Given the description of an element on the screen output the (x, y) to click on. 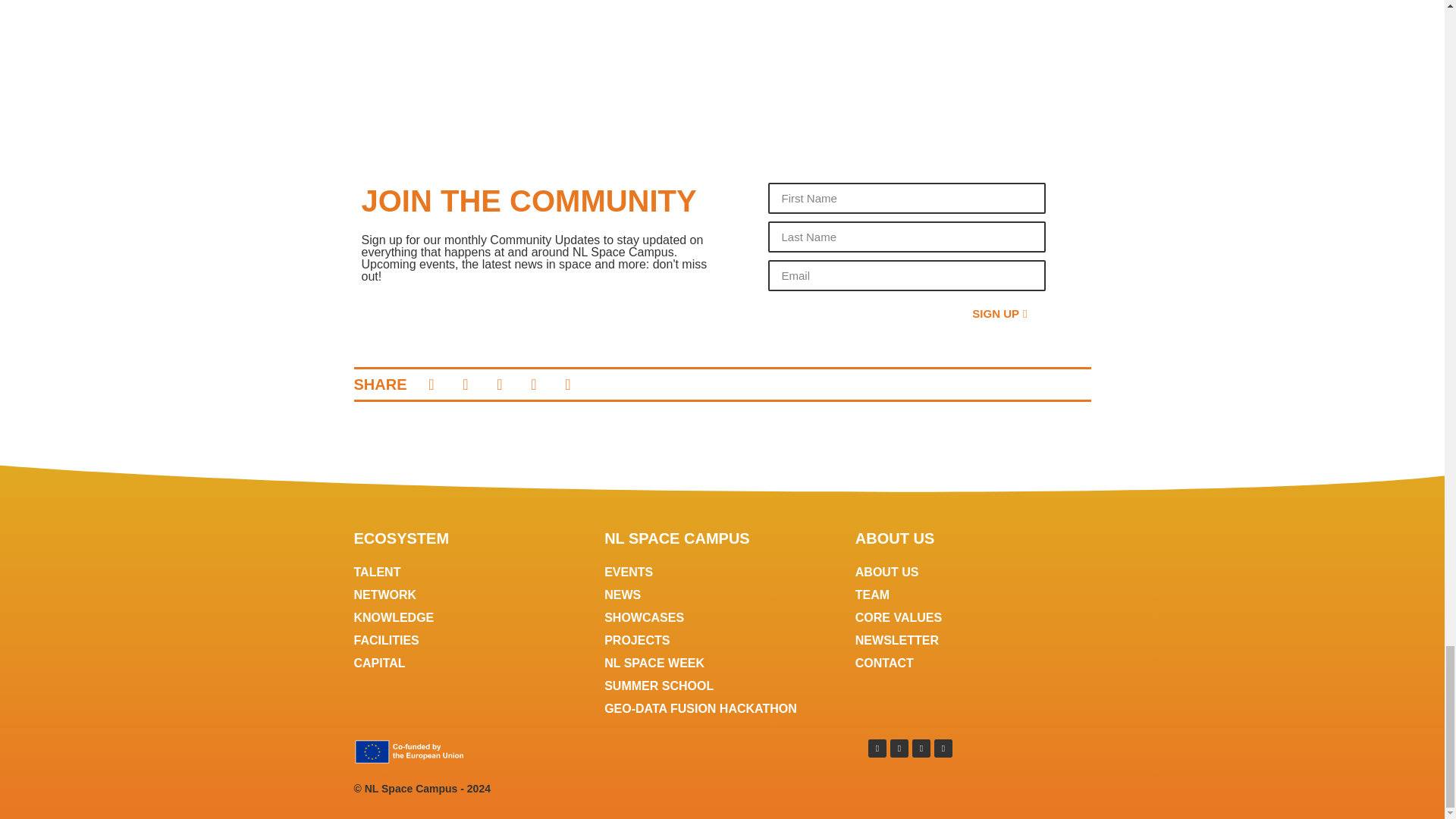
NETWORK (471, 594)
EVENTS (722, 572)
ABOUT US (973, 572)
NL SPACE WEEK (722, 662)
SIGN UP (999, 313)
NEWSLETTER (973, 640)
TALENT (471, 572)
SHOWCASES (722, 617)
FACILITIES (471, 640)
PROJECTS (722, 640)
TEAM (973, 594)
KNOWLEDGE (471, 617)
CONTACT (973, 662)
GEO-DATA FUSION HACKATHON (722, 708)
SUMMER SCHOOL (722, 685)
